Given the description of an element on the screen output the (x, y) to click on. 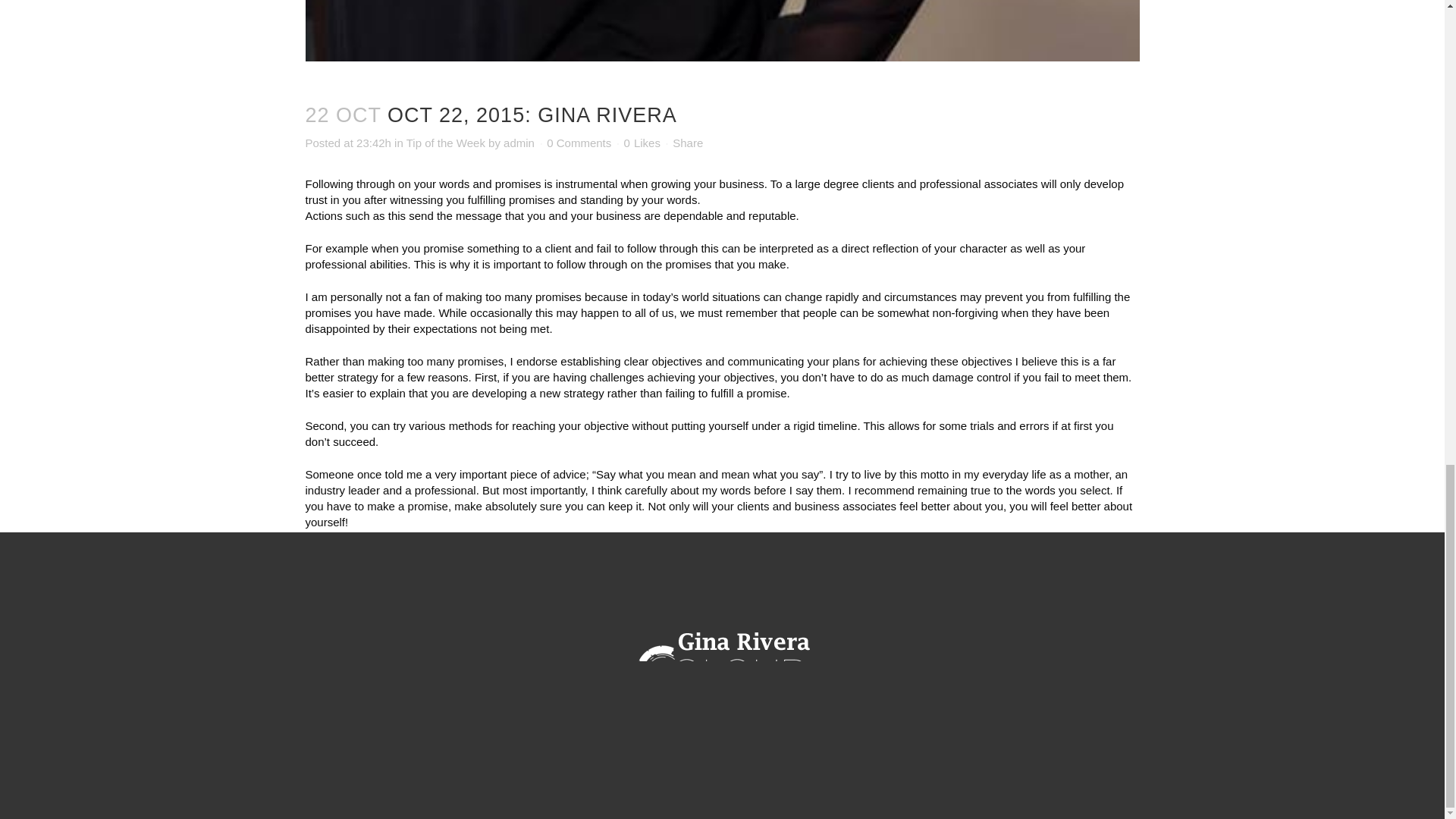
0 Likes (642, 143)
Tip of the Week (445, 142)
0 Comments (579, 142)
Like this (642, 143)
admin (518, 142)
Share (687, 142)
